Given the description of an element on the screen output the (x, y) to click on. 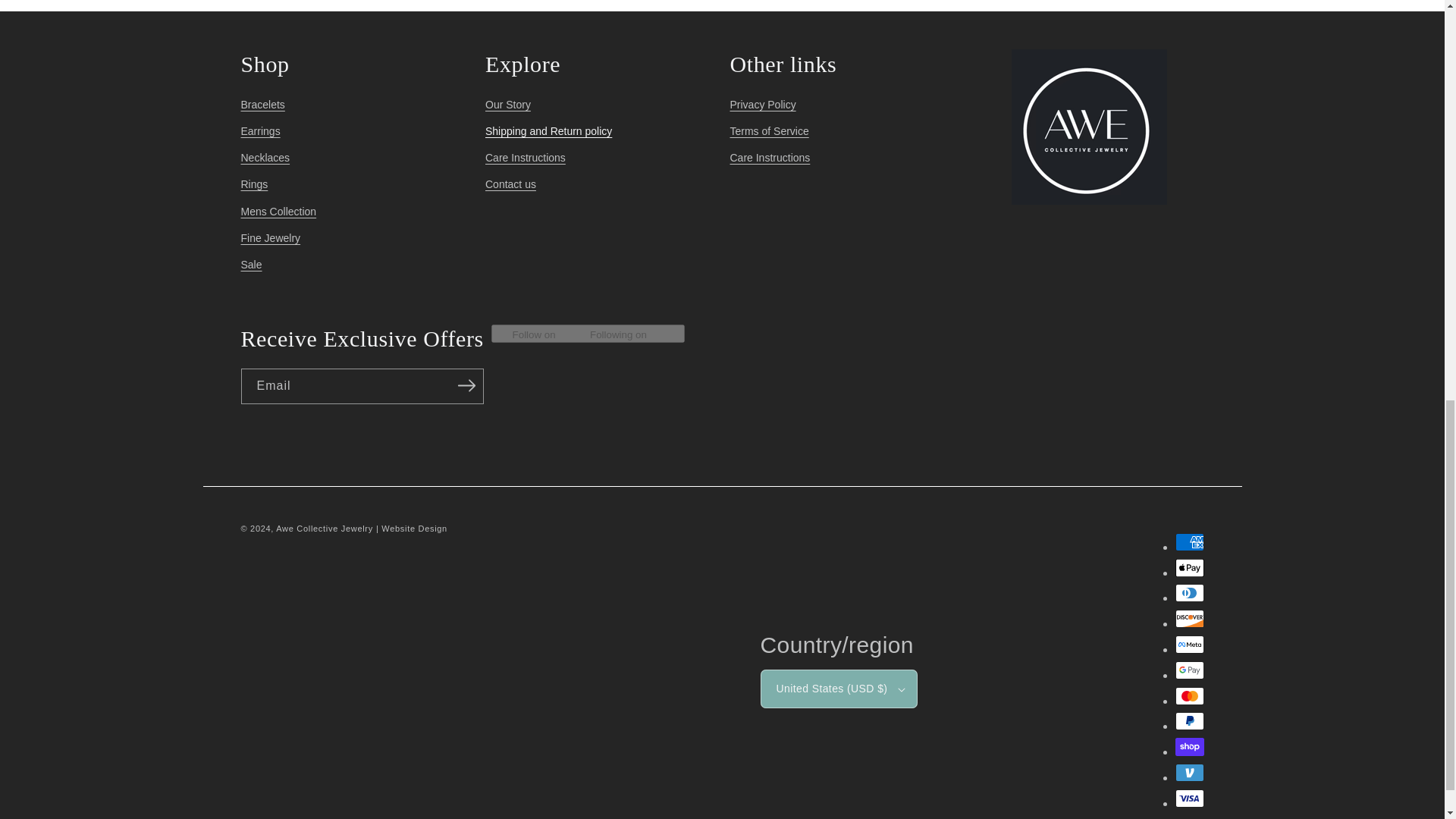
Privacy Policy (761, 106)
Shipping and Return policy (547, 130)
Discover (1189, 618)
Necklaces (265, 157)
Apple Pay (1189, 567)
Rings (254, 184)
American Express (1189, 542)
Terms of Service (768, 130)
Our Story (507, 106)
Care Instructions (525, 157)
